Given the description of an element on the screen output the (x, y) to click on. 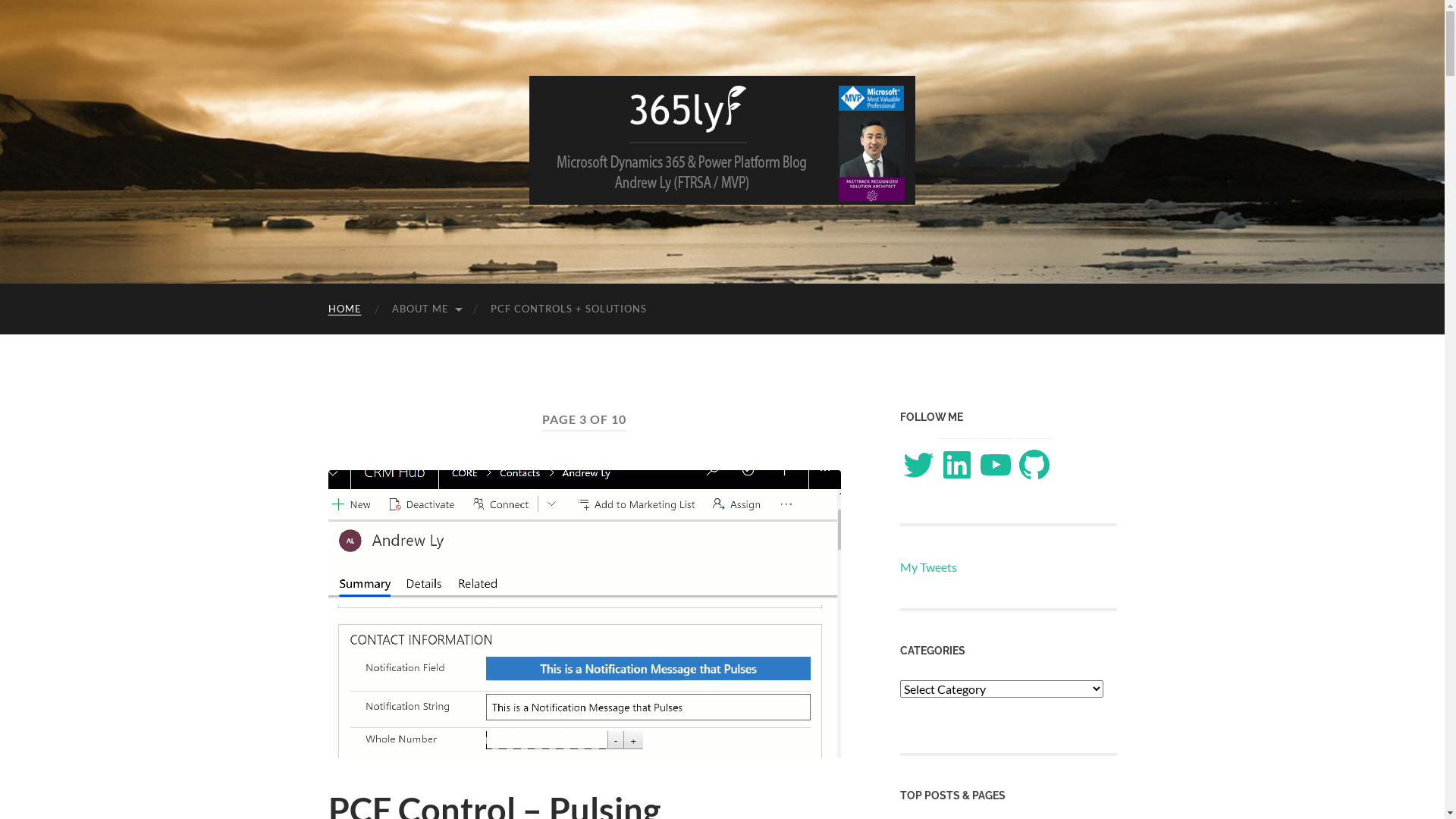
HOME Element type: text (344, 308)
GitHub Element type: text (1034, 464)
ABOUT ME Element type: text (425, 308)
365lyf.com Element type: text (722, 139)
My Tweets Element type: text (927, 566)
PCF CONTROLS + SOLUTIONS Element type: text (567, 308)
YouTube Element type: text (994, 464)
Twitter Element type: text (917, 464)
LinkedIn Element type: text (956, 464)
